Given the description of an element on the screen output the (x, y) to click on. 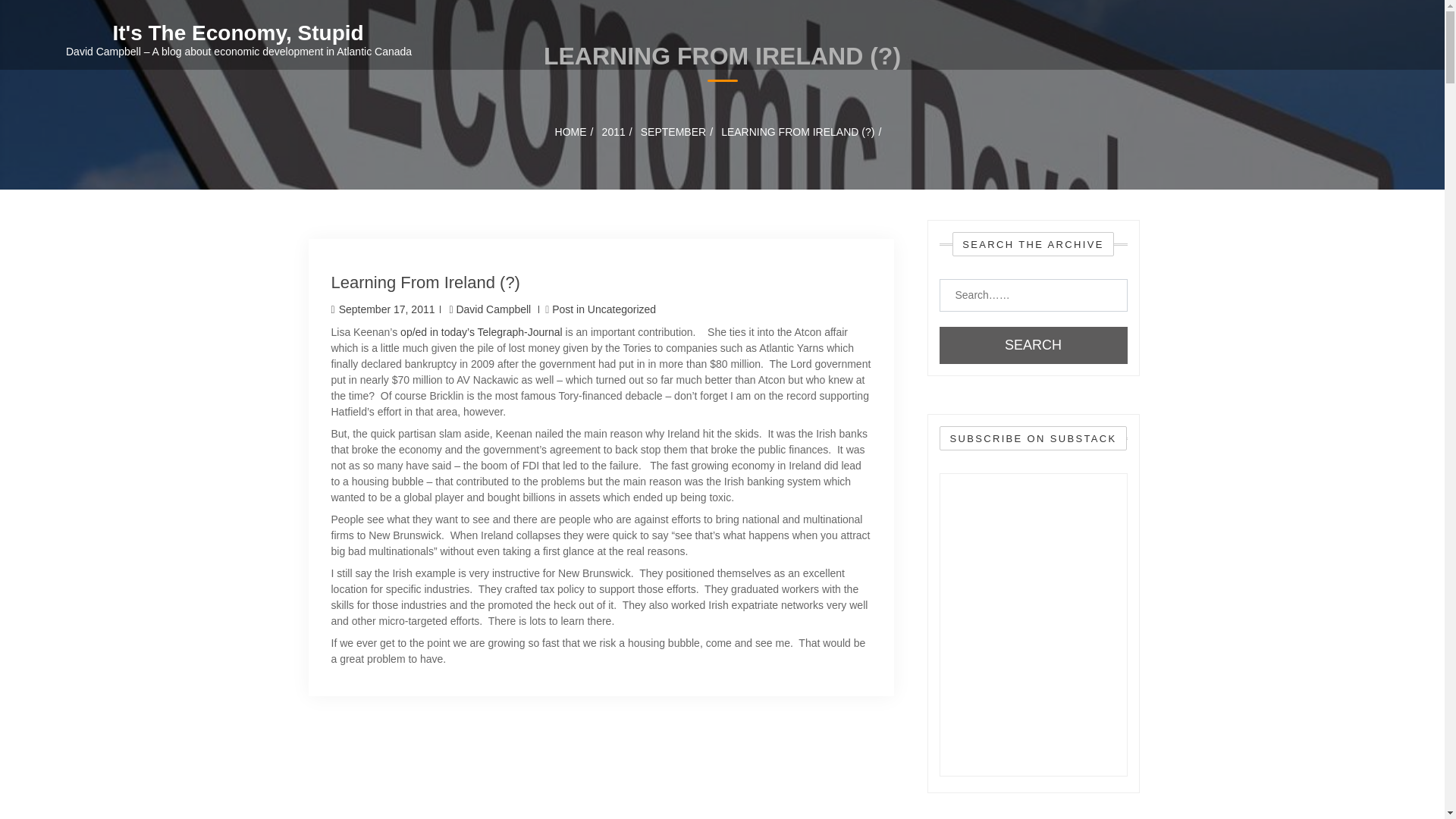
SEPTEMBER (673, 132)
SEARCH (1032, 344)
Uncategorized (622, 309)
HOME (570, 132)
Post in (569, 309)
David Campbell (491, 309)
It's The Economy, Stupid (233, 33)
2011 (614, 132)
September 17, 2011 (381, 309)
